Given the description of an element on the screen output the (x, y) to click on. 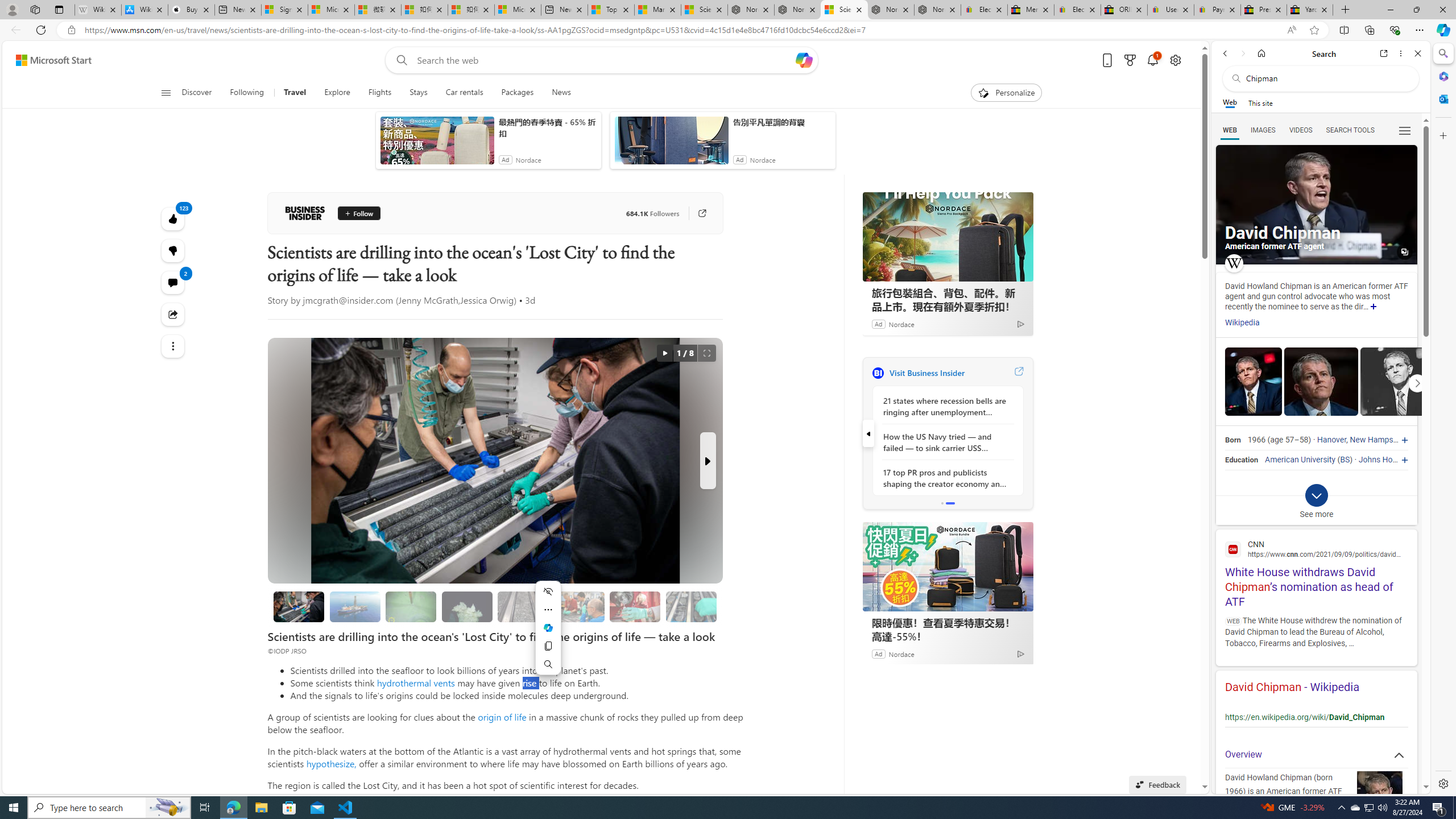
Researchers are still studying the samples (690, 606)
User Privacy Notice | eBay (1170, 9)
Hide menu (547, 591)
Flights (379, 92)
Open link in new tab (1383, 53)
Search the web (1326, 78)
hypothesize, (330, 763)
Web scope (1230, 102)
Mini menu on text selection (547, 627)
